Given the description of an element on the screen output the (x, y) to click on. 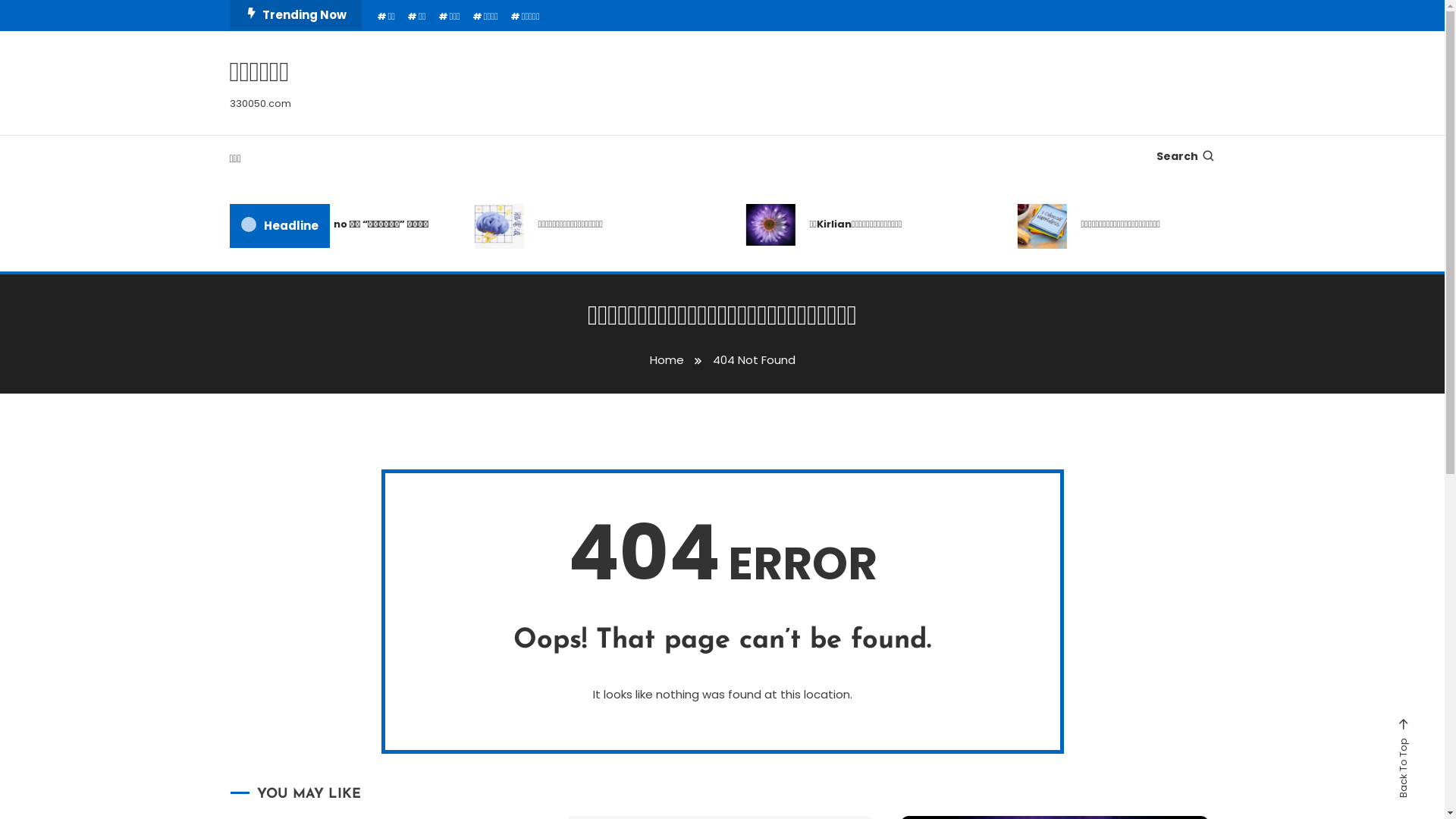
Search Element type: text (770, 434)
Home Element type: text (666, 359)
Search Element type: text (1184, 155)
